Given the description of an element on the screen output the (x, y) to click on. 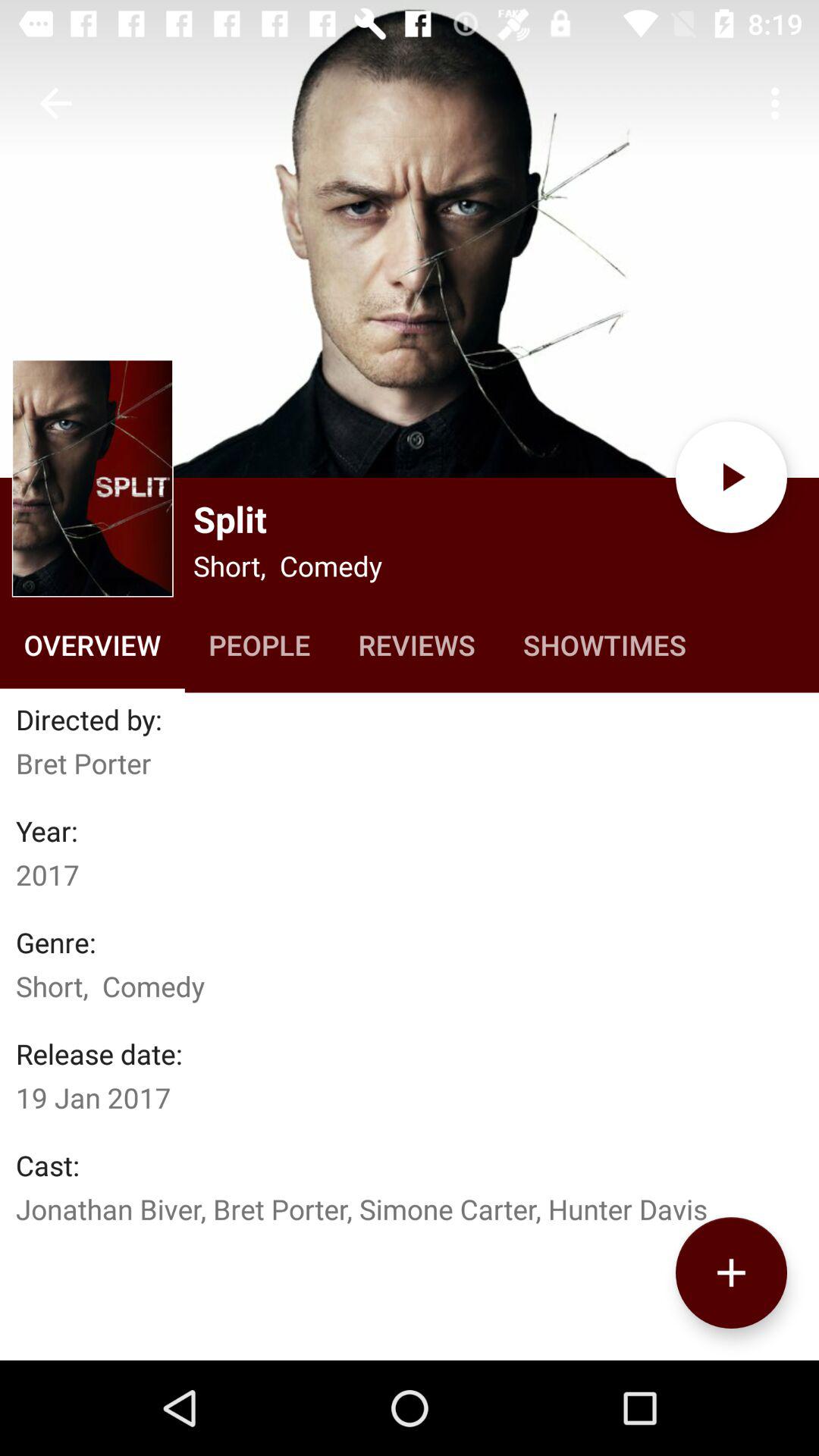
enlarge image (92, 478)
